Given the description of an element on the screen output the (x, y) to click on. 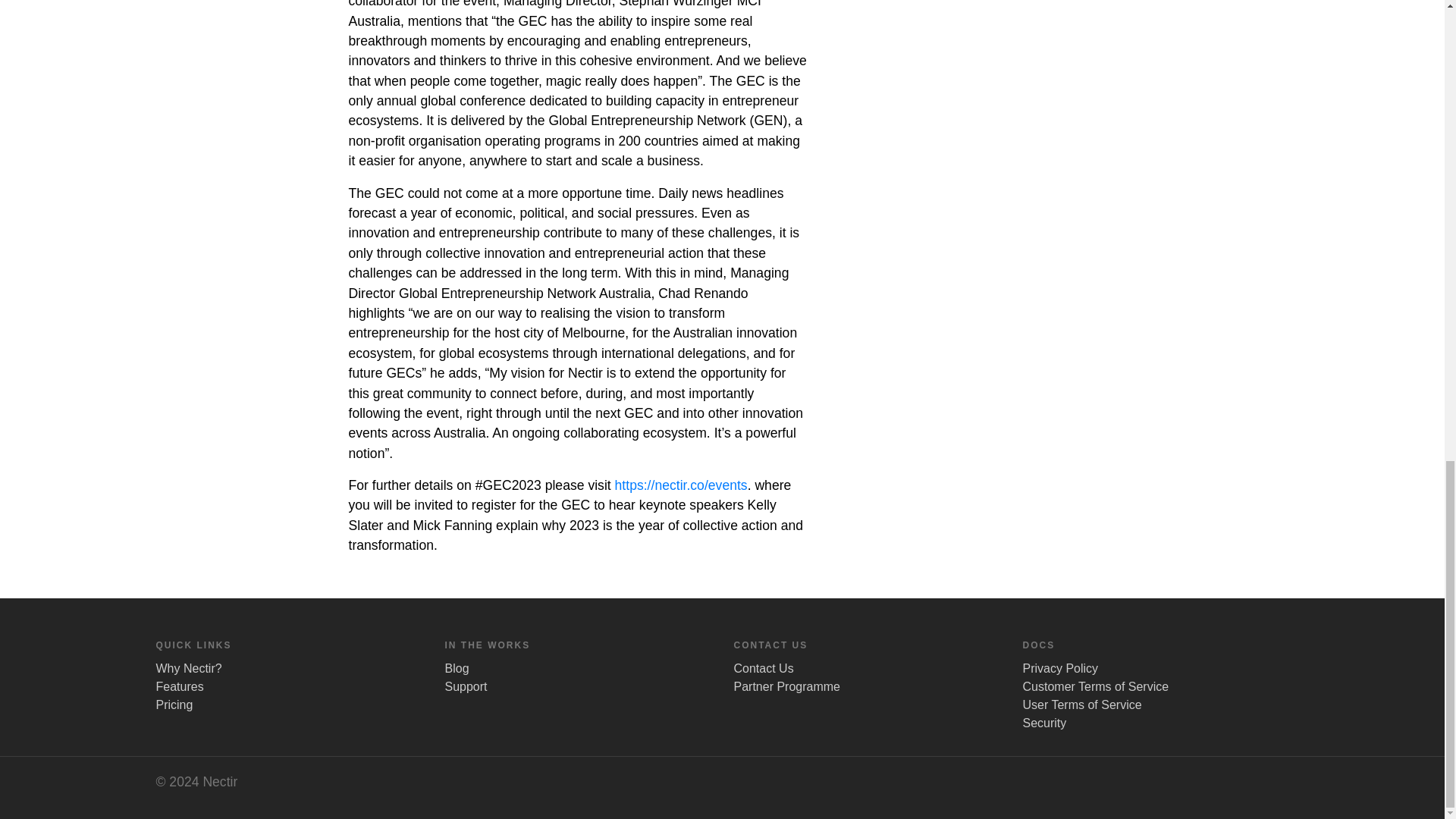
Privacy Policy (1059, 667)
Support (465, 686)
Blog (456, 667)
Pricing (174, 704)
Why Nectir? (188, 667)
Contact Us (763, 667)
Partner Programme (787, 686)
Features (179, 686)
